Given the description of an element on the screen output the (x, y) to click on. 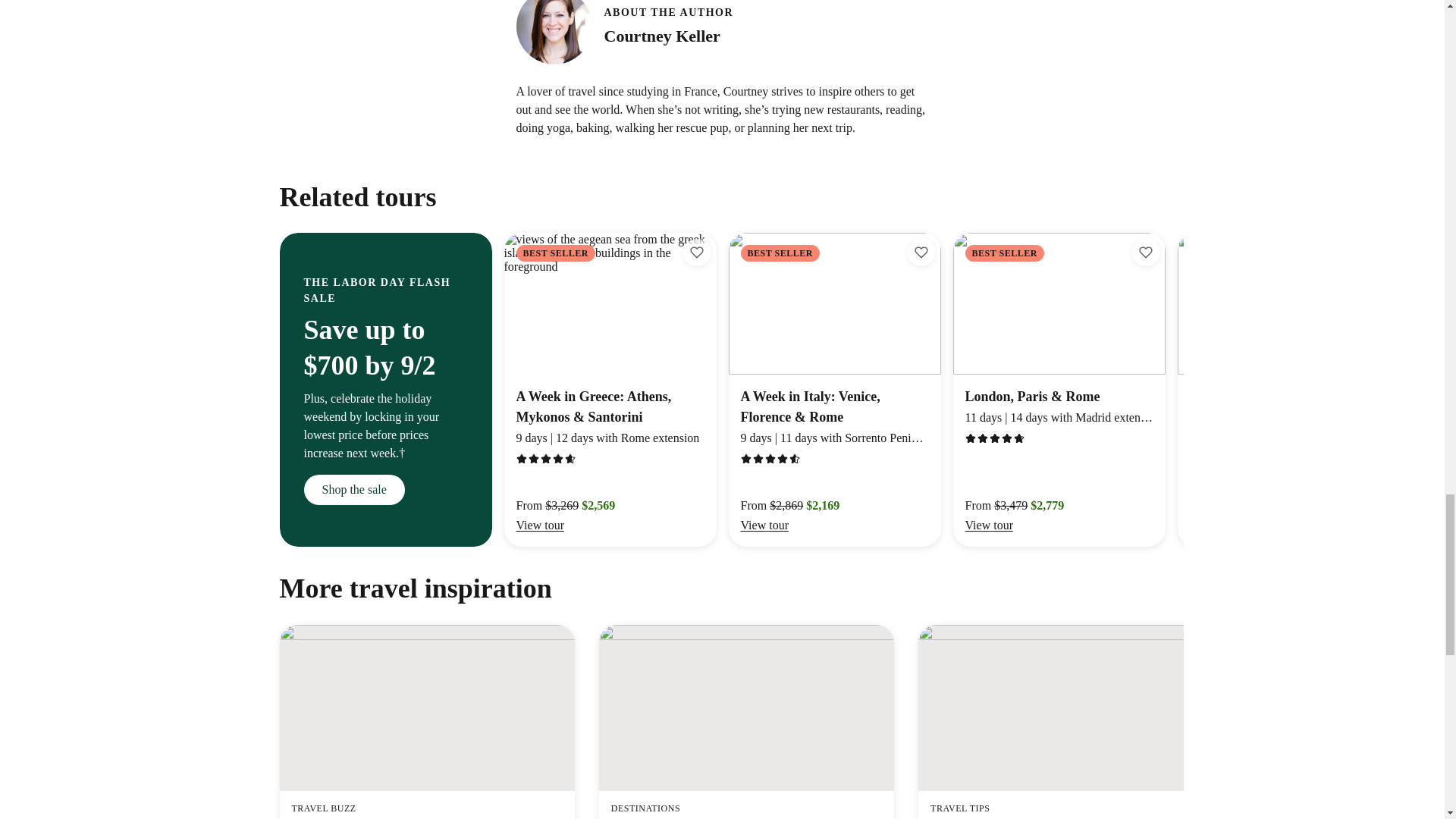
Shop the sale (353, 490)
Skip to end of carousel (721, 32)
